Given the description of an element on the screen output the (x, y) to click on. 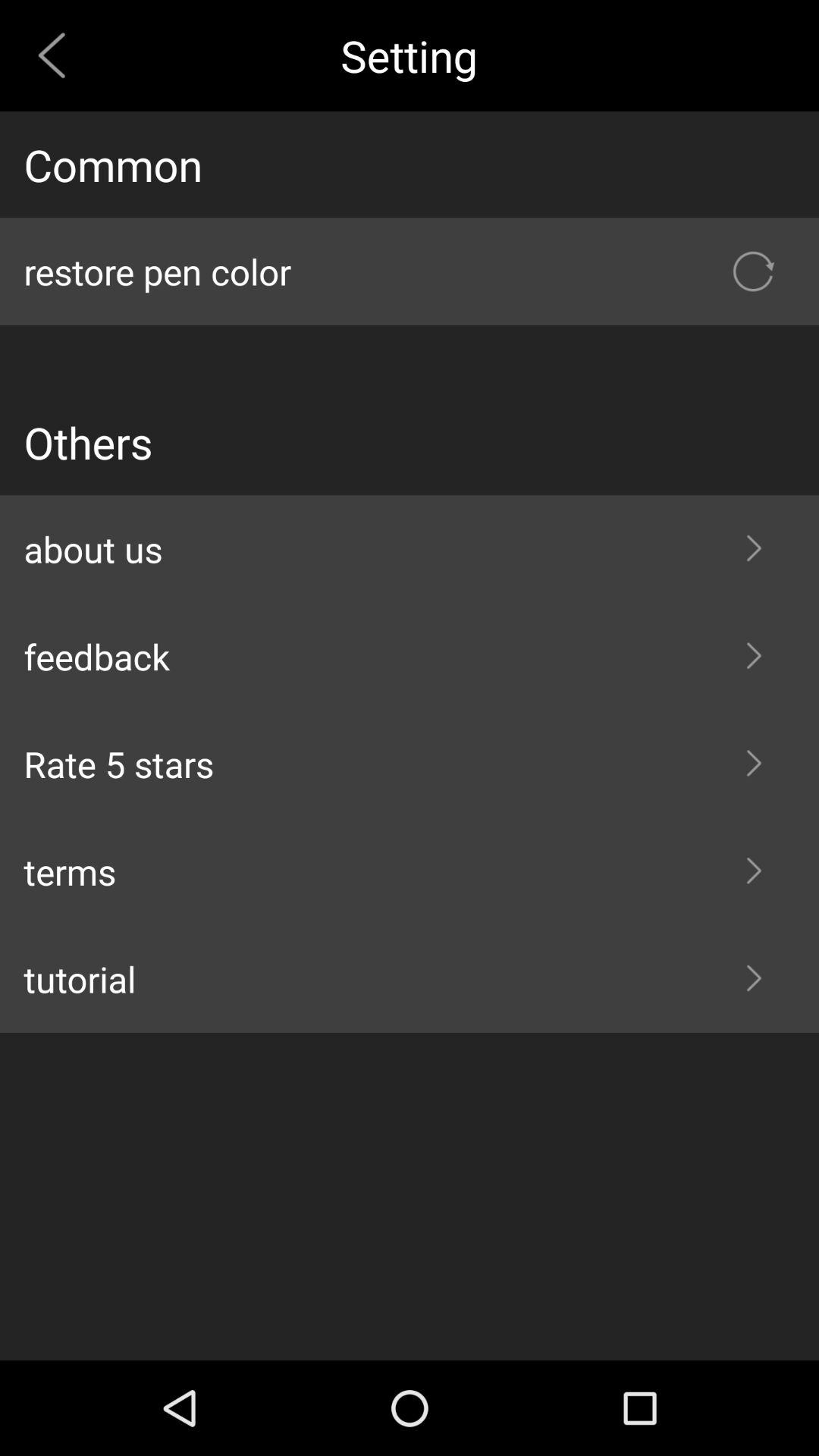
choose tutorial icon (409, 978)
